Given the description of an element on the screen output the (x, y) to click on. 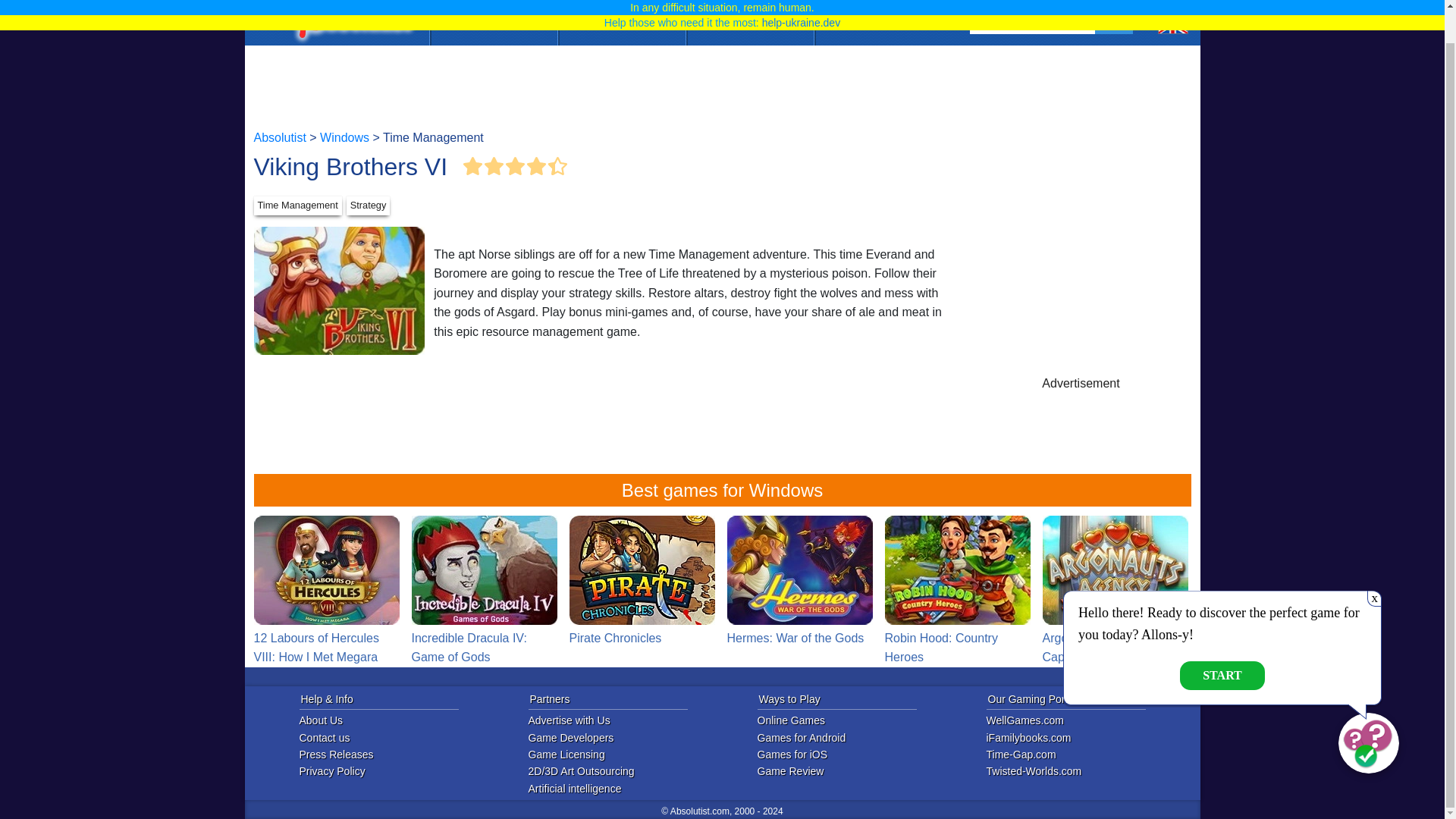
Online (493, 3)
Hermes: War of the Gods (799, 569)
Time Management (296, 205)
12 Labours of Hercules VIII: How I Met Megara (325, 569)
12 Labours of Hercules VIII: How I Met Megara (325, 591)
Pirate Chronicles (641, 581)
Absolutist (350, 5)
Incredible Dracula IV: Game of Gods (483, 591)
Robin Hood: Country Heroes (956, 569)
Pirate Chronicles (641, 569)
Android (749, 3)
iOS (621, 3)
Argonauts Agency: Captive of Circe (1115, 591)
Windows (344, 137)
Hermes: War of the Gods (799, 581)
